Given the description of an element on the screen output the (x, y) to click on. 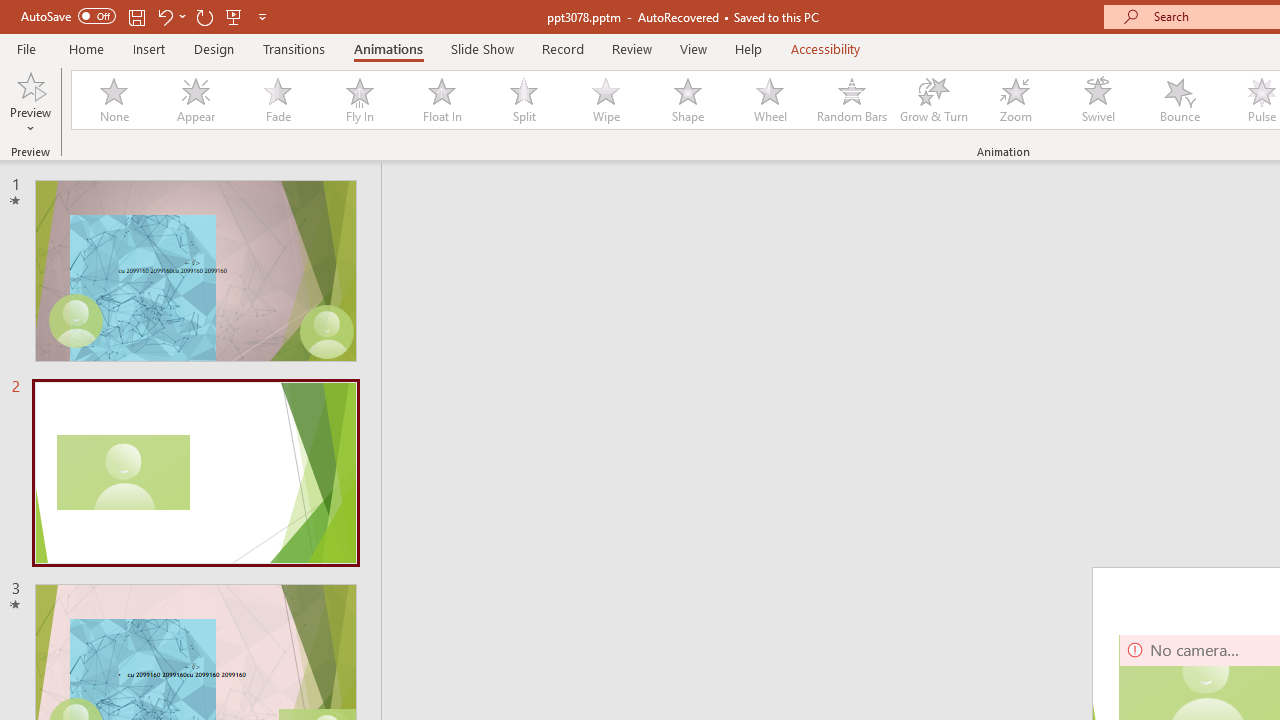
Split (523, 100)
From Beginning (234, 15)
Wheel (770, 100)
Slide (195, 473)
Fade (277, 100)
Zoom (1016, 100)
Transitions (294, 48)
Preview (30, 102)
Grow & Turn (934, 100)
Review (631, 48)
Customize Quick Access Toolbar (262, 15)
